Given the description of an element on the screen output the (x, y) to click on. 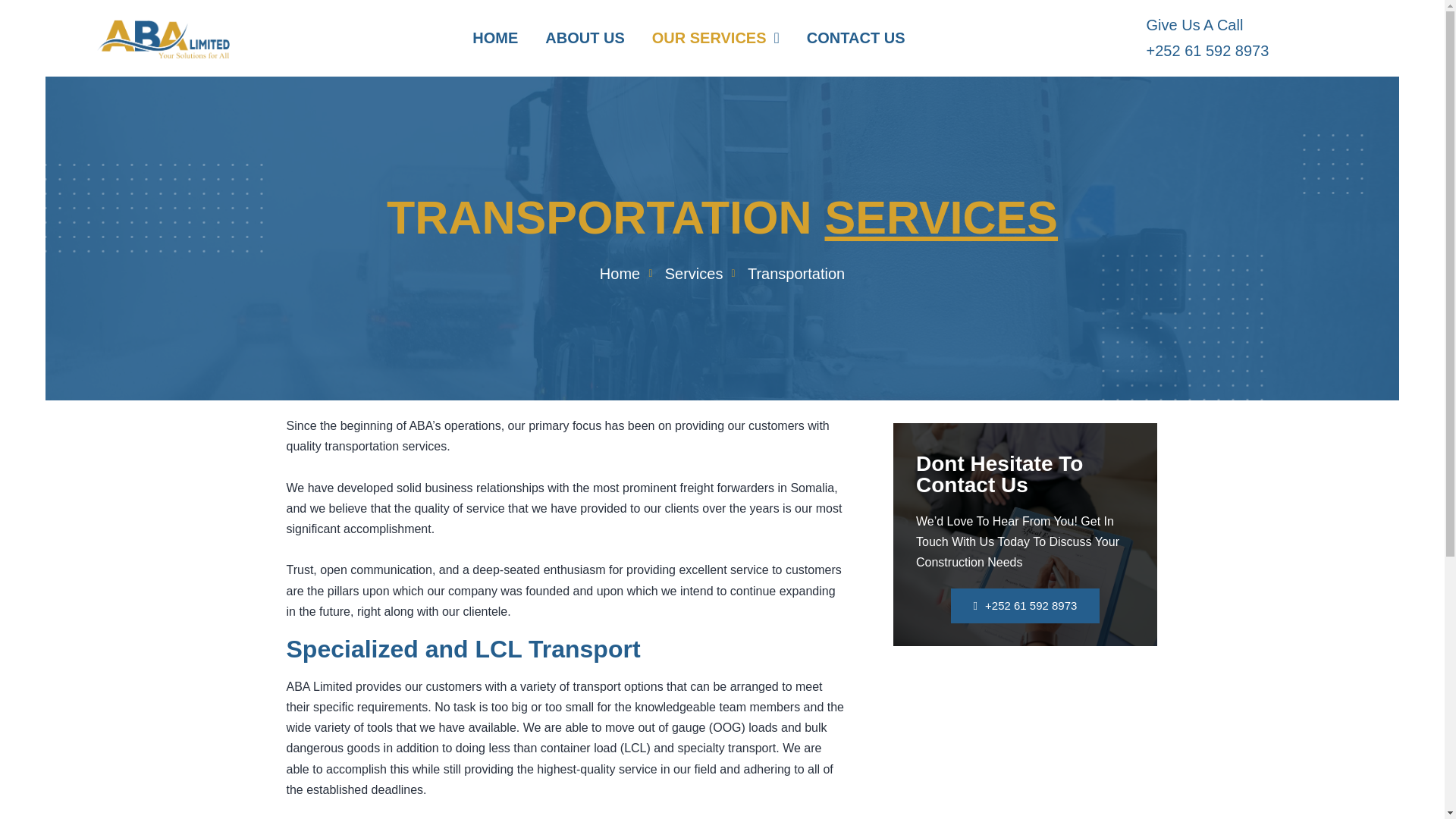
ABOUT US (584, 38)
OUR SERVICES (716, 38)
Transportation (785, 273)
CONTACT US (855, 38)
Services (682, 273)
Home (619, 273)
HOME (494, 38)
